Given the description of an element on the screen output the (x, y) to click on. 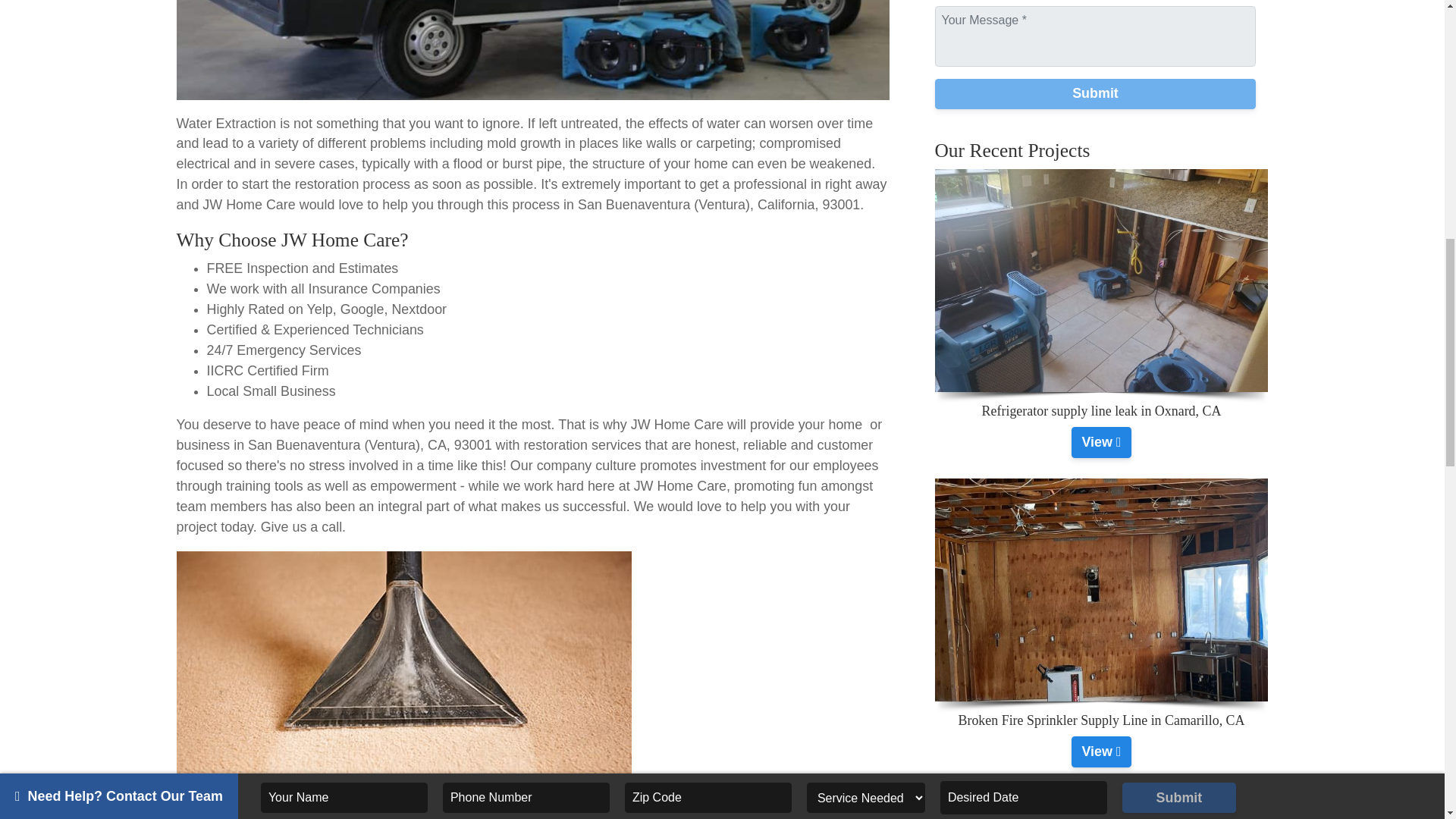
Submit (1094, 93)
Broken Fire Sprinkler Supply Line in Camarillo, CA (1101, 751)
Refrigerator supply line leak in Oxnard, CA (1101, 441)
